Given the description of an element on the screen output the (x, y) to click on. 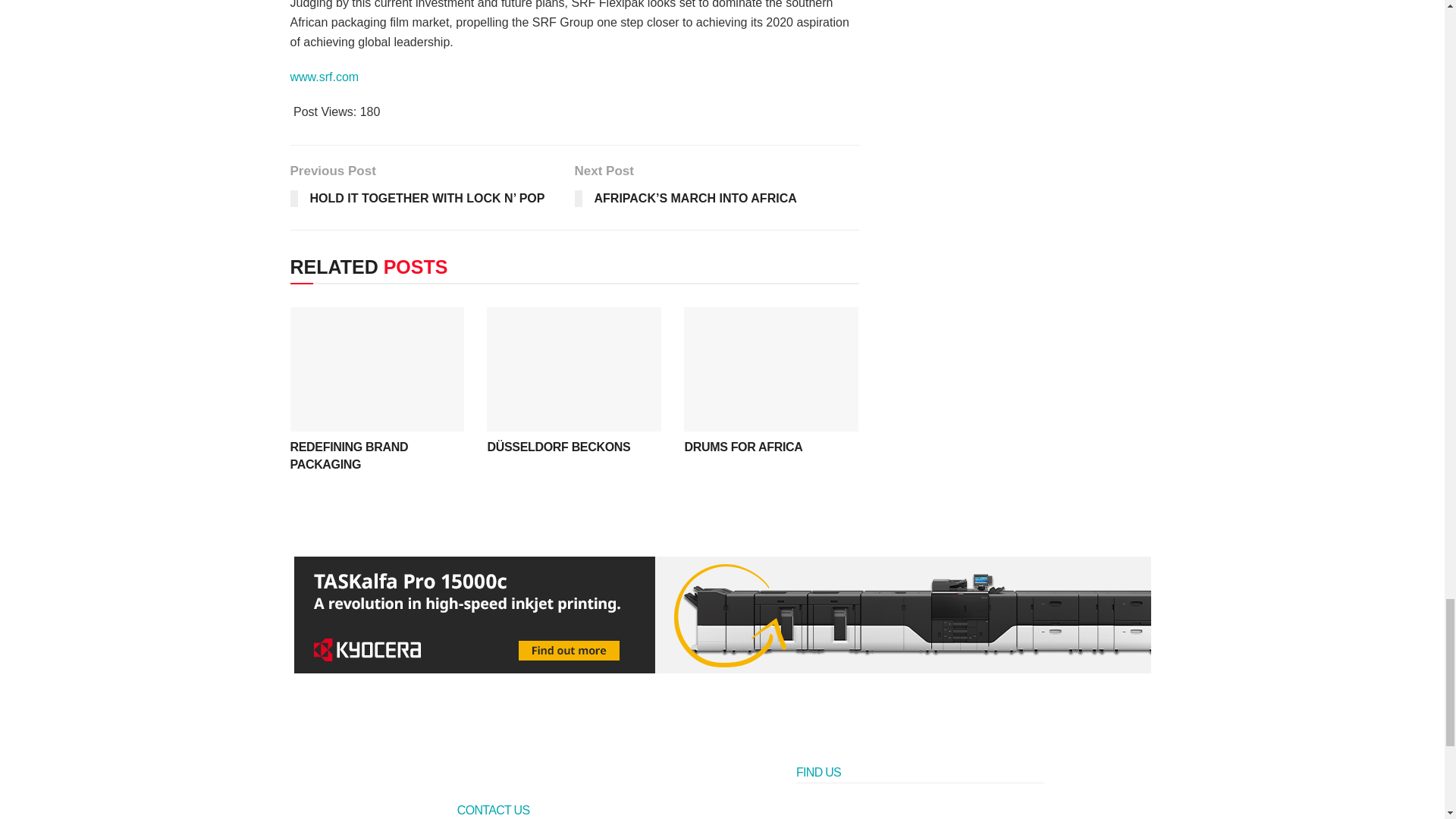
Fountain Grove 5 2nd Rd, Hyde Park, Johannesburg, 2194 (919, 808)
www.srf.com (323, 76)
www.srf.com (323, 76)
